Given the description of an element on the screen output the (x, y) to click on. 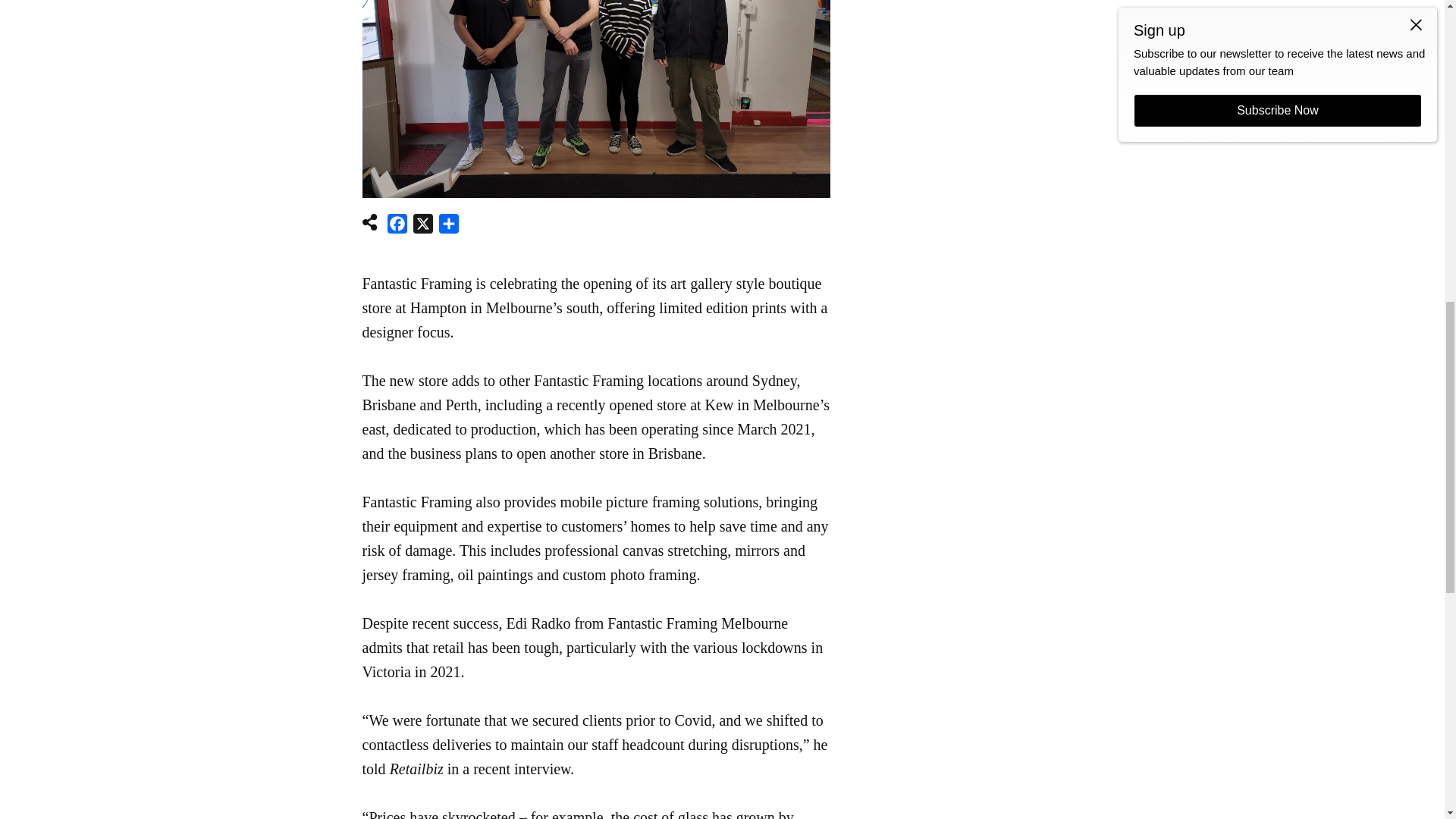
3rd party ad content (722, 45)
X (422, 226)
Facebook (397, 226)
3rd party ad content (969, 14)
